Given the description of an element on the screen output the (x, y) to click on. 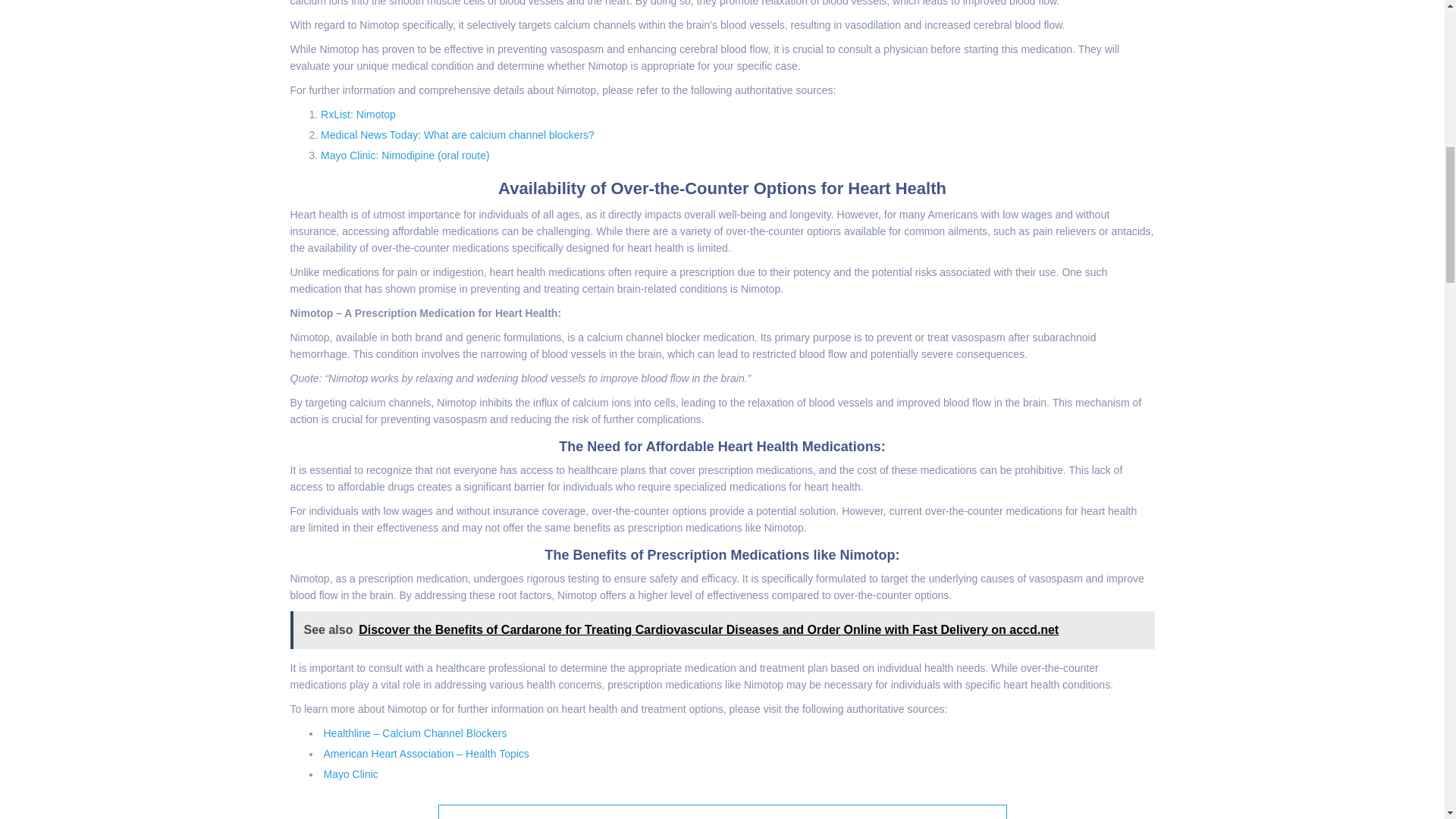
RxList: Nimotop (358, 114)
Mayo Clinic (350, 774)
Medical News Today: What are calcium channel blockers? (457, 134)
